Given the description of an element on the screen output the (x, y) to click on. 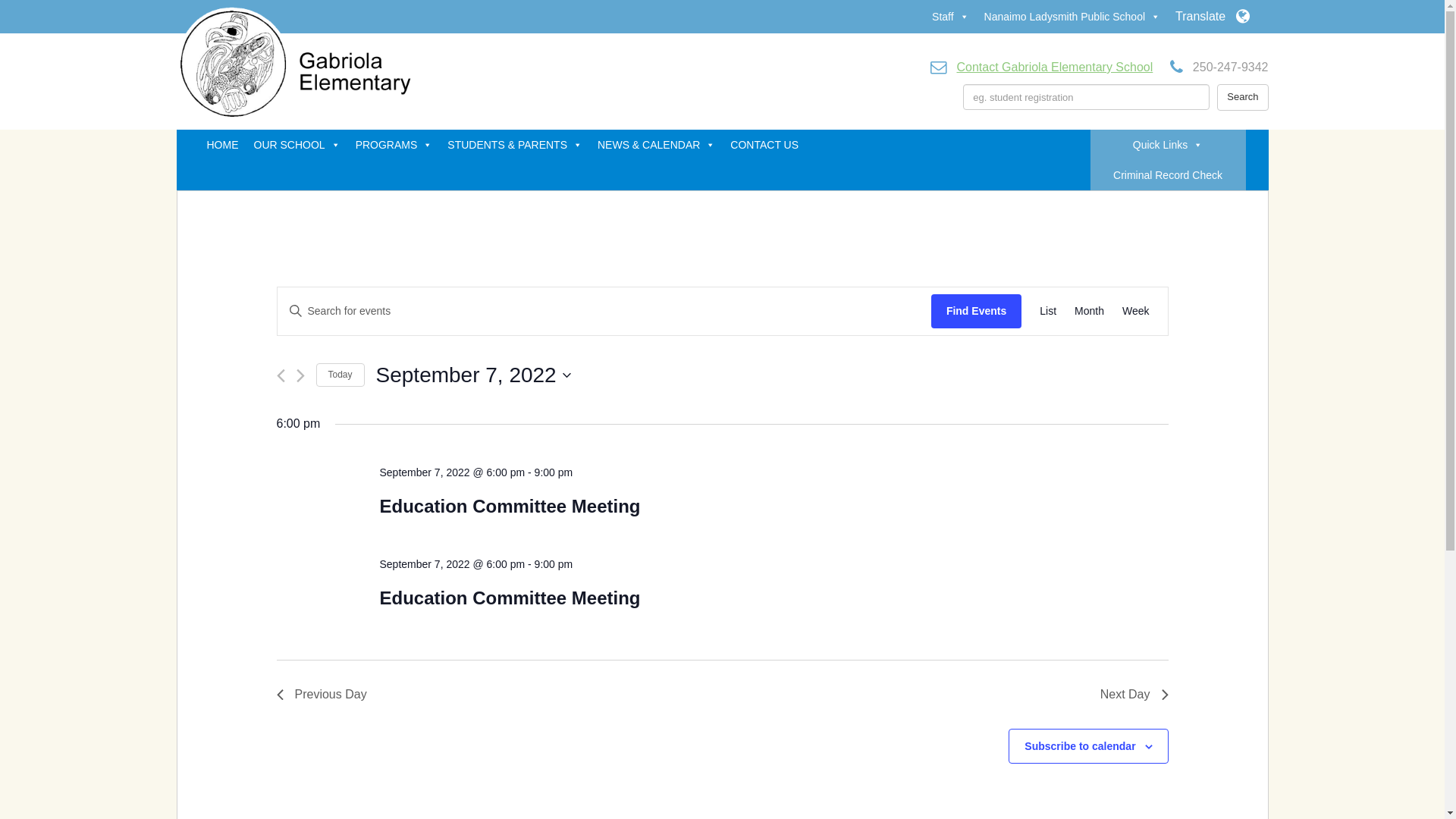
Quick Links Element type: text (1167, 144)
Criminal Record Check Element type: text (1167, 175)
Contact Gabriola Elementary School Element type: text (1054, 66)
NEWS & CALENDAR Element type: text (655, 144)
Nanaimo Ladysmith Public School Element type: text (1071, 16)
Translate   Element type: text (1211, 16)
Search Element type: text (1242, 97)
Next Day Element type: text (1134, 694)
Week Element type: text (1135, 311)
Education Committee Meeting Element type: text (509, 506)
List Element type: text (1047, 311)
Month Element type: text (1089, 311)
PROGRAMS Element type: text (394, 144)
Education Committee Meeting Element type: text (509, 597)
HOME Element type: text (221, 144)
STUDENTS & PARENTS Element type: text (514, 144)
Subscribe to calendar Element type: text (1079, 746)
OUR SCHOOL Element type: text (296, 144)
September 7, 2022 Element type: text (473, 375)
CONTACT US Element type: text (764, 144)
Next day Element type: hover (299, 375)
Find Events Element type: text (976, 311)
Today Element type: text (339, 374)
Previous Day Element type: text (321, 694)
Previous day Element type: hover (280, 375)
Staff Element type: text (950, 16)
